Given the description of an element on the screen output the (x, y) to click on. 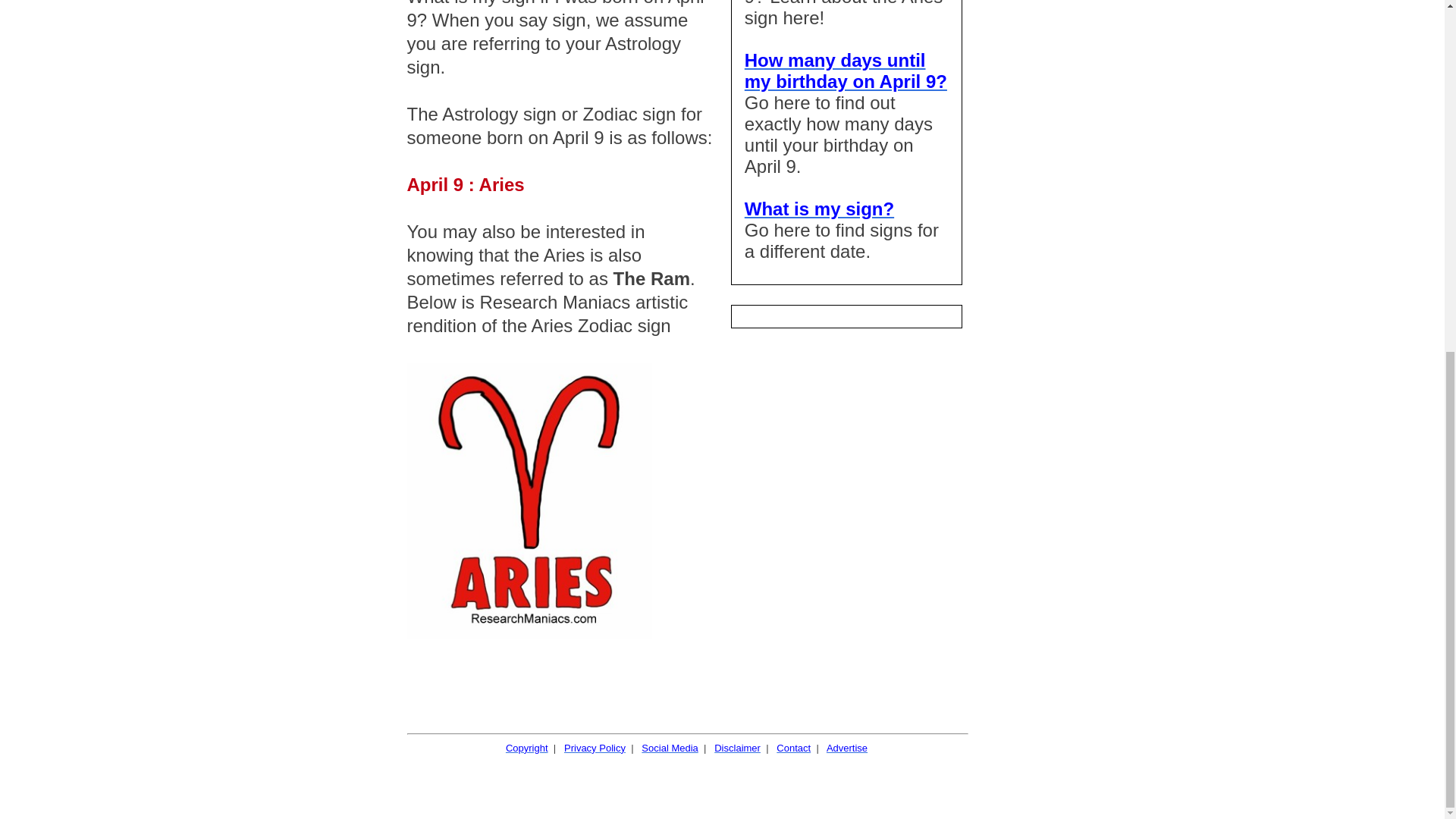
What is my sign? (818, 209)
How many days until my birthday on April 9? (845, 70)
Advertise (847, 747)
Disclaimer (737, 747)
Privacy Policy (595, 747)
Copyright (526, 747)
Contact (793, 747)
Social Media (669, 747)
